Given the description of an element on the screen output the (x, y) to click on. 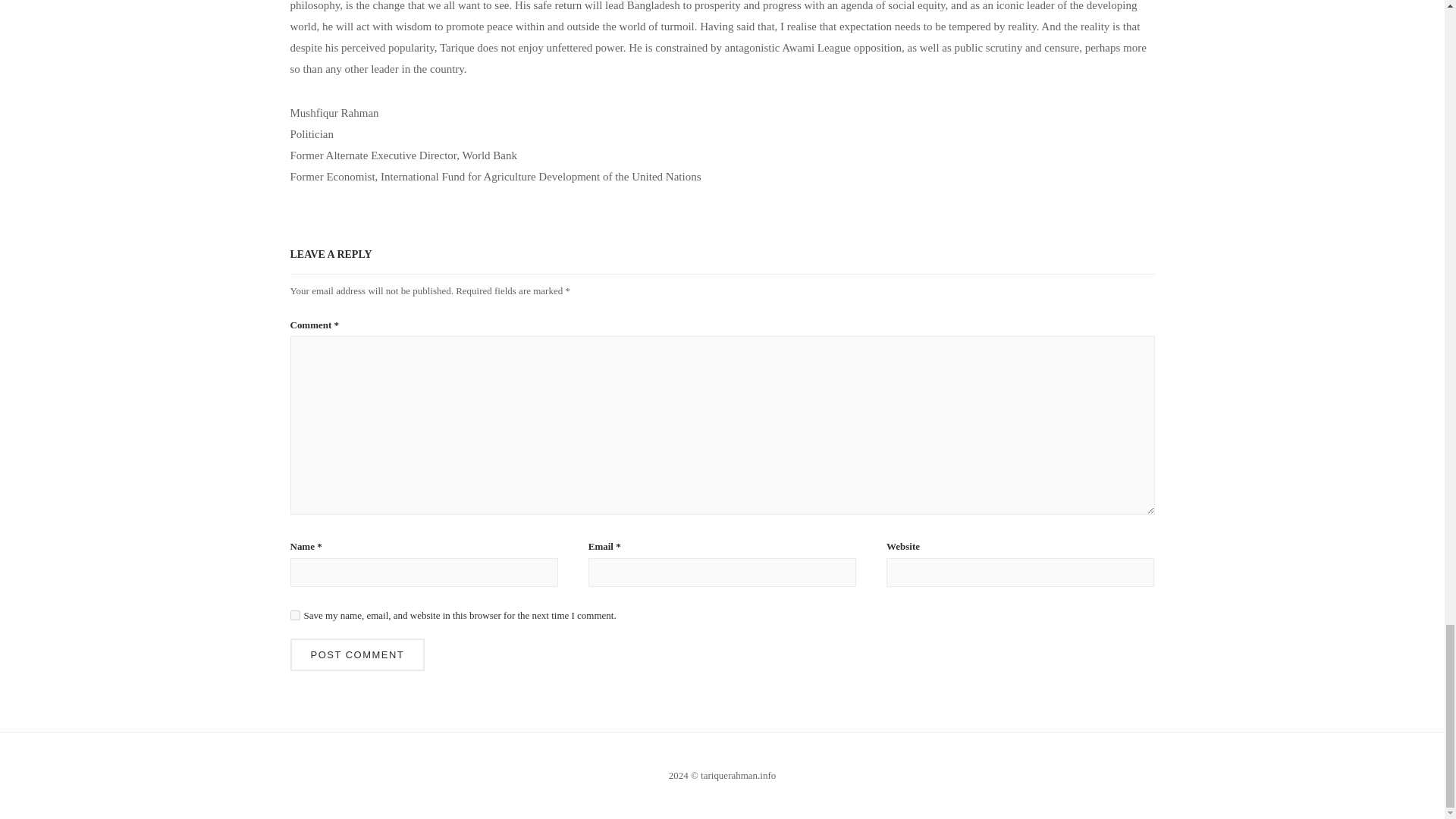
Post Comment (357, 654)
yes (294, 614)
Post Comment (357, 654)
